Given the description of an element on the screen output the (x, y) to click on. 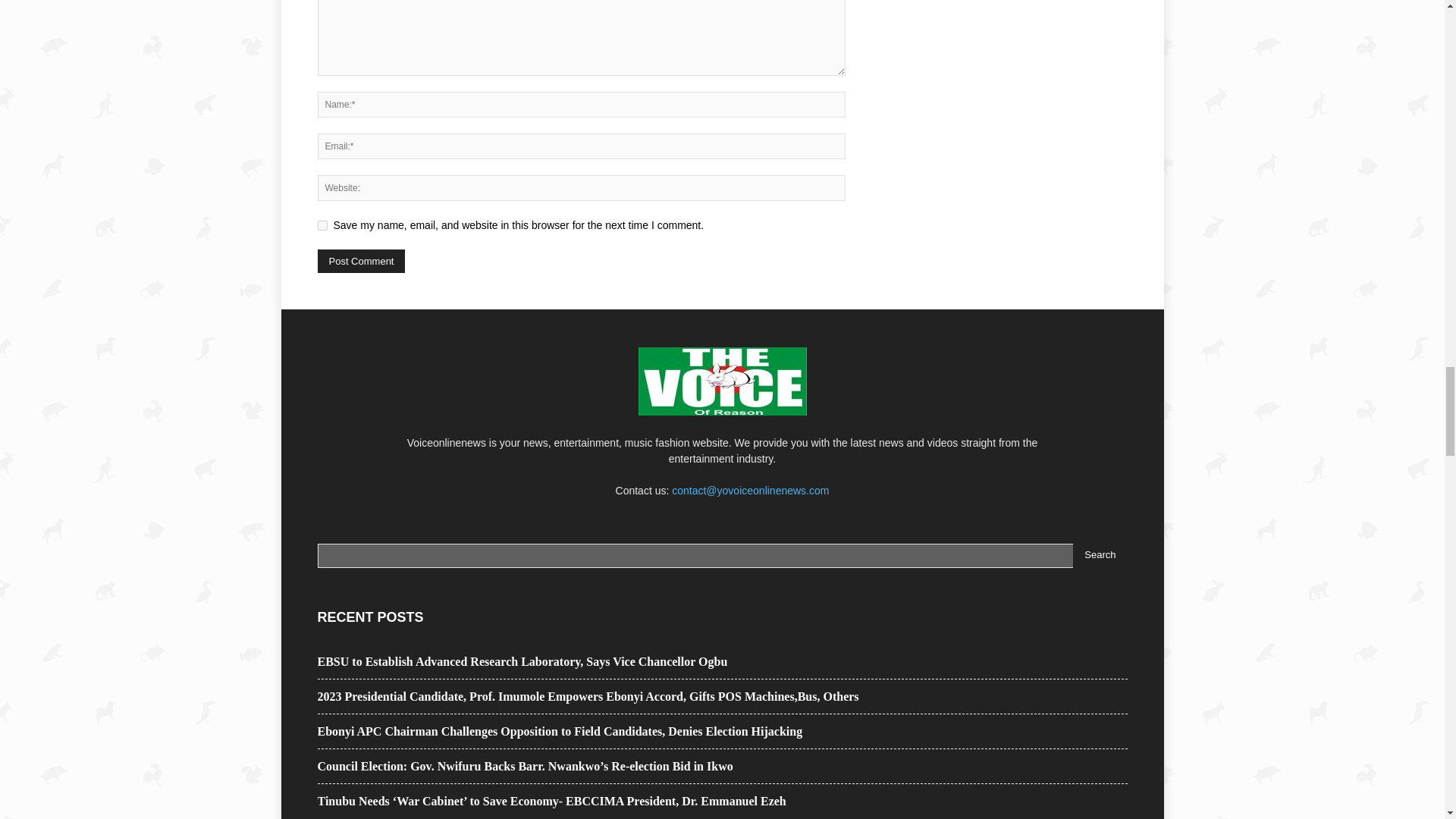
Post Comment (360, 260)
yes (321, 225)
Search (1099, 555)
